Given the description of an element on the screen output the (x, y) to click on. 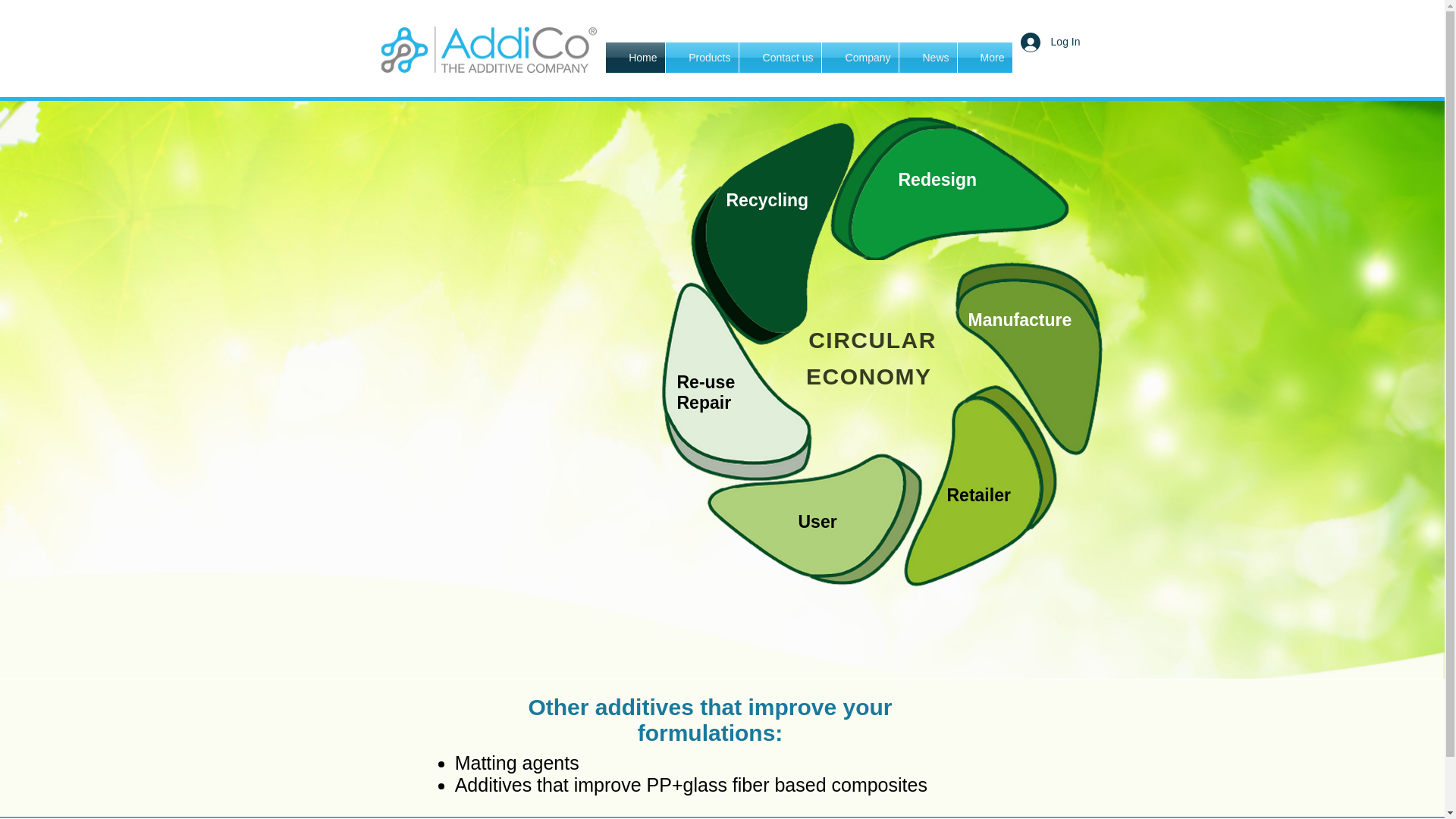
Redesign (937, 179)
Company (860, 57)
segmento 1.png (950, 188)
News (927, 57)
Contact us (779, 57)
Log In (1050, 41)
Home (634, 57)
Recycling (767, 199)
Products (701, 57)
